Given the description of an element on the screen output the (x, y) to click on. 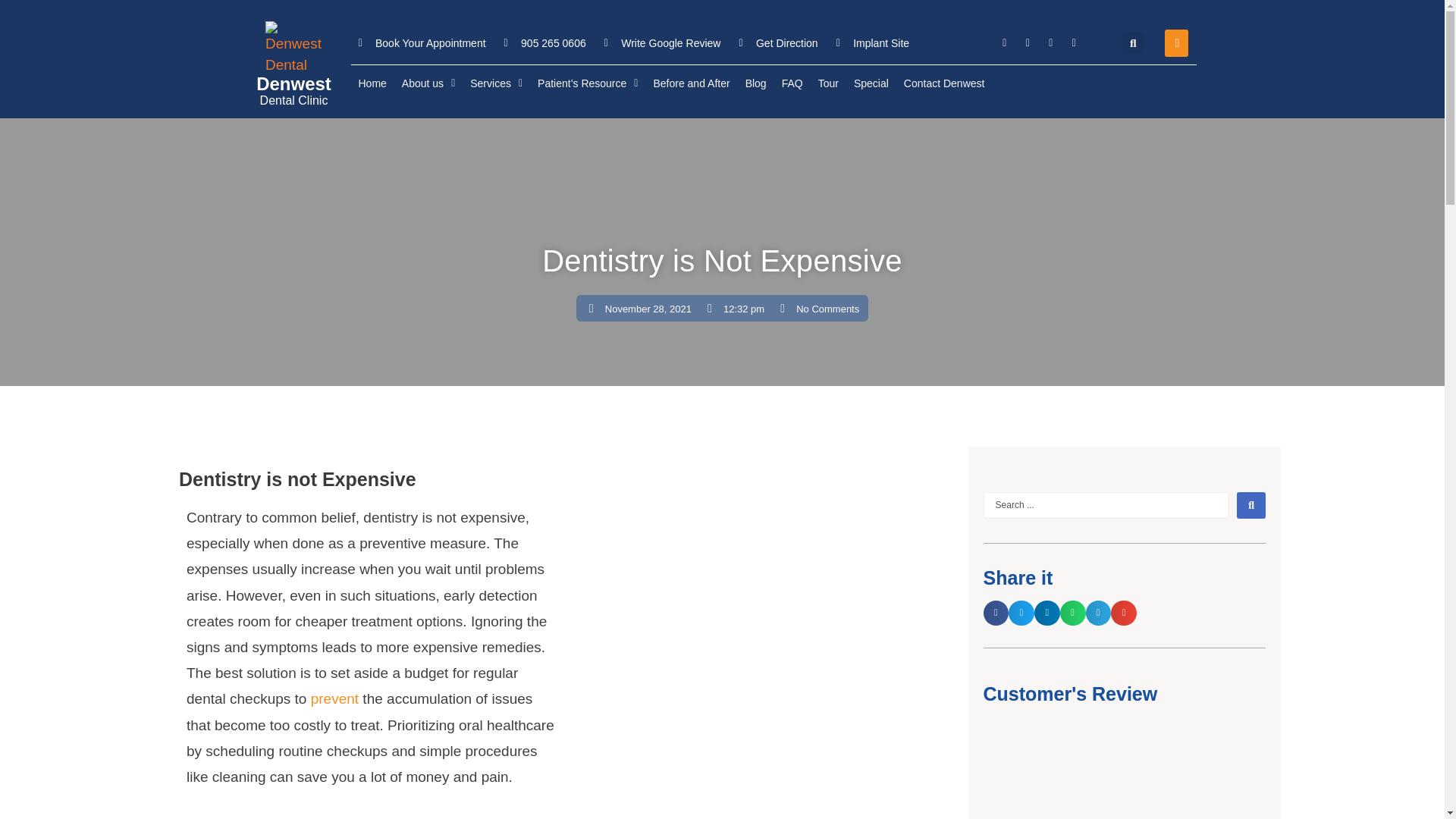
About us (428, 83)
Dental Clinic (294, 100)
Book Your Appointment (421, 43)
Implant Site (871, 43)
Write Google Review (662, 43)
Services (496, 83)
Home (371, 83)
Denwest (293, 83)
Get Direction (777, 43)
905 265 0606 (544, 43)
